Given the description of an element on the screen output the (x, y) to click on. 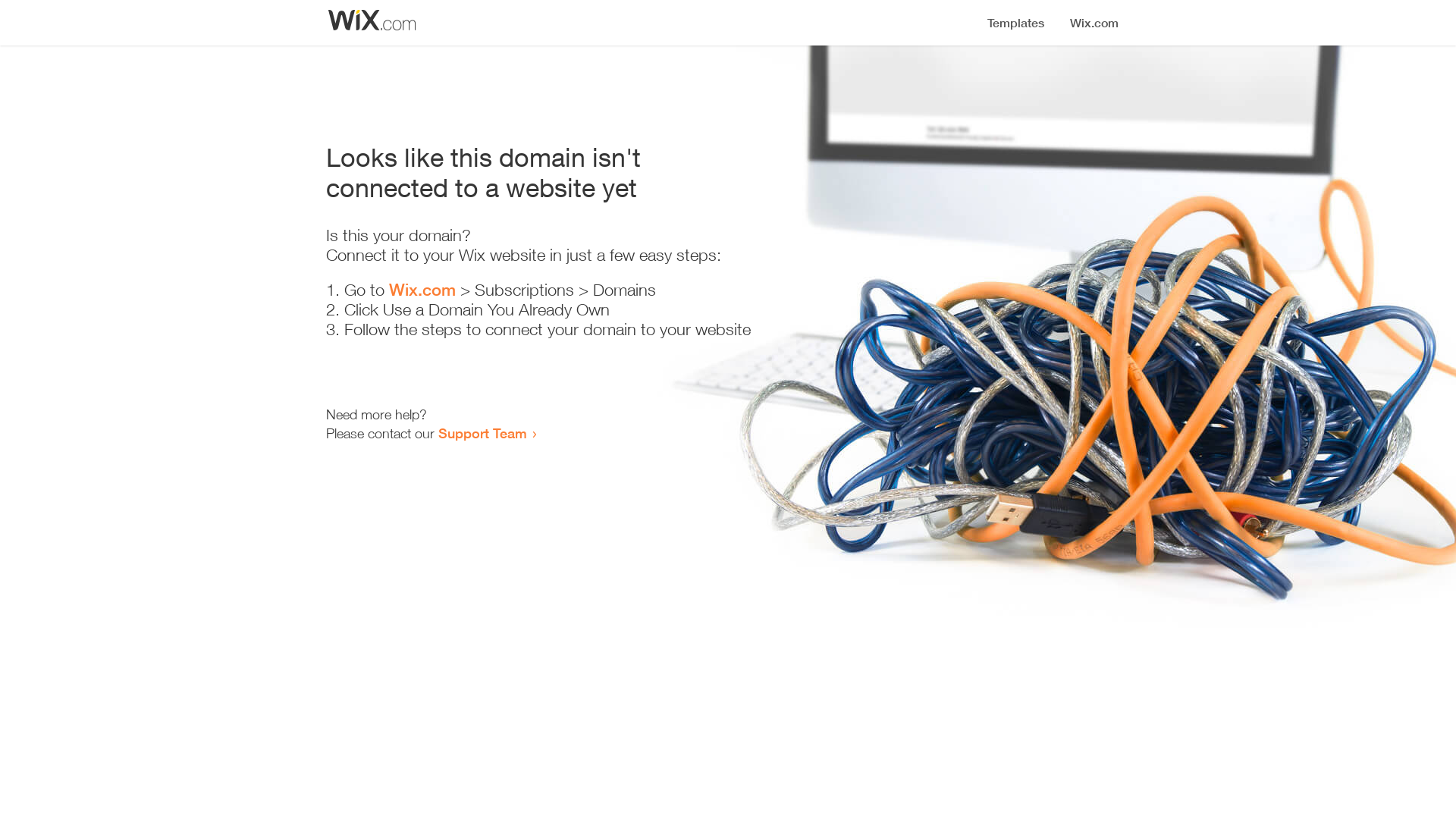
Wix.com Element type: text (422, 289)
Support Team Element type: text (482, 432)
